Given the description of an element on the screen output the (x, y) to click on. 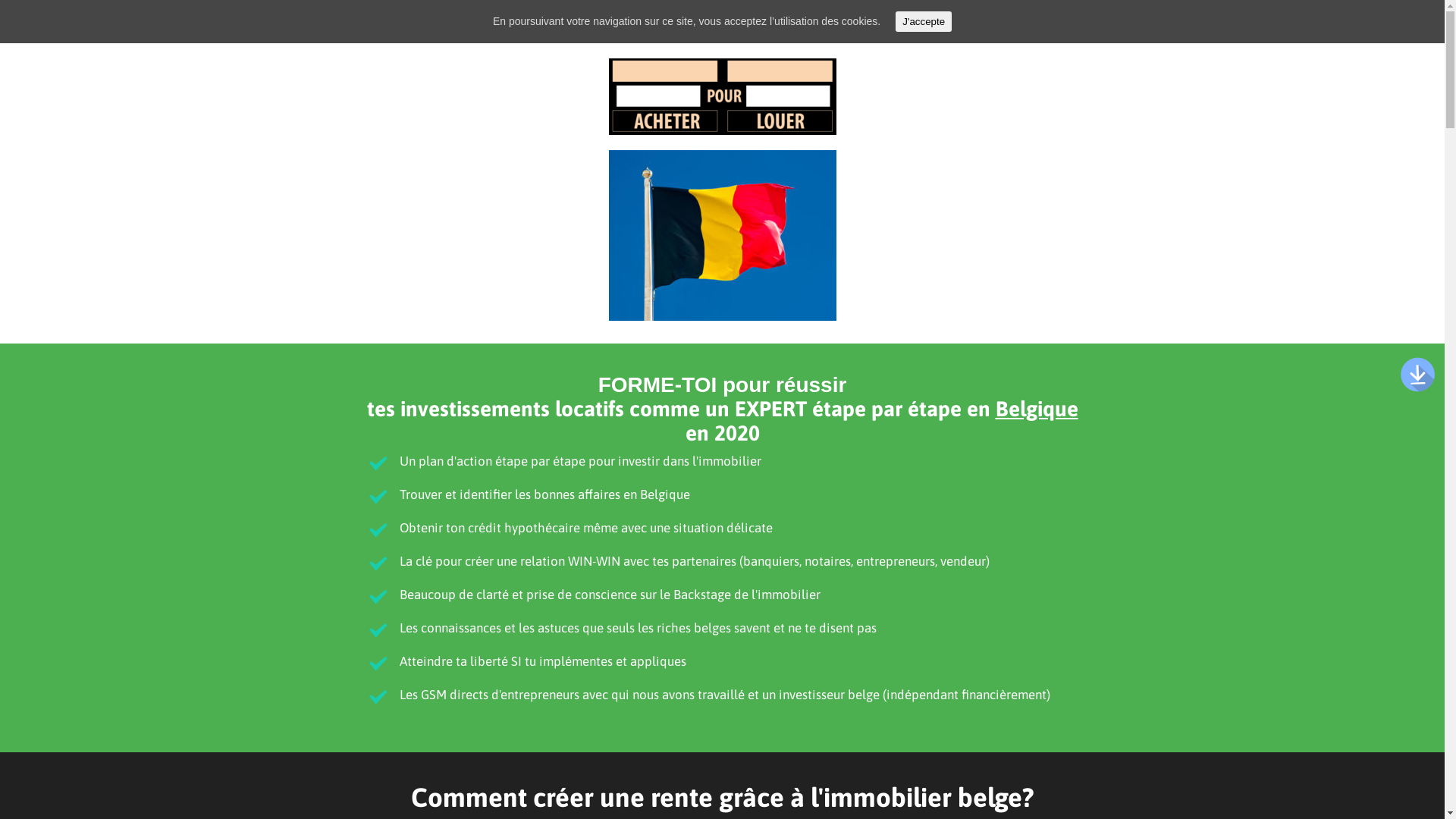
J'accepte Element type: text (923, 21)
